Given the description of an element on the screen output the (x, y) to click on. 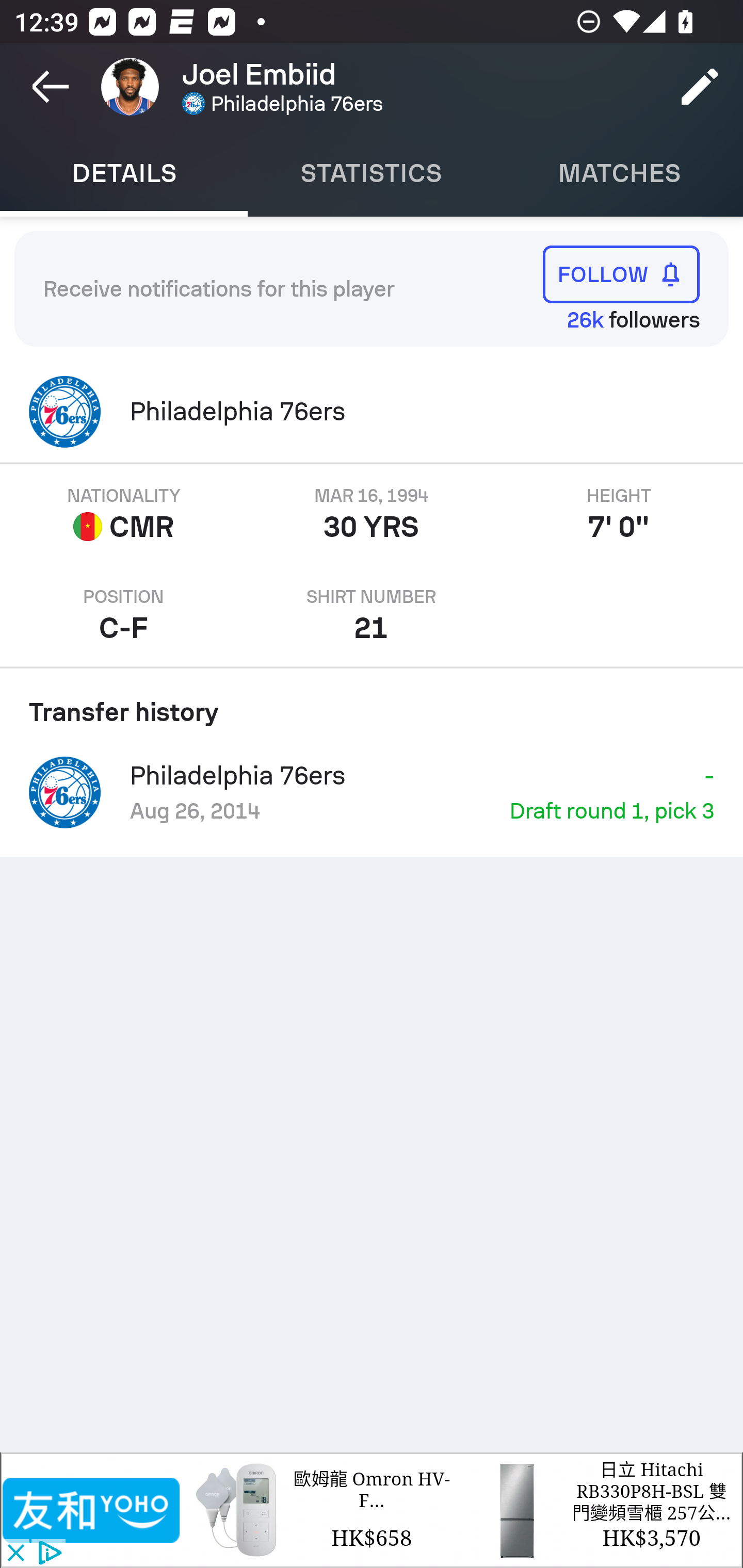
Navigate up (50, 86)
Edit (699, 86)
Statistics STATISTICS (371, 173)
Matches MATCHES (619, 173)
FOLLOW (621, 274)
Philadelphia 76ers (371, 411)
NATIONALITY CMR (123, 515)
POSITION C-F (123, 616)
Transfer history (371, 704)
   (91, 1509)
close_button (14, 1553)
privacy_small (47, 1553)
